Given the description of an element on the screen output the (x, y) to click on. 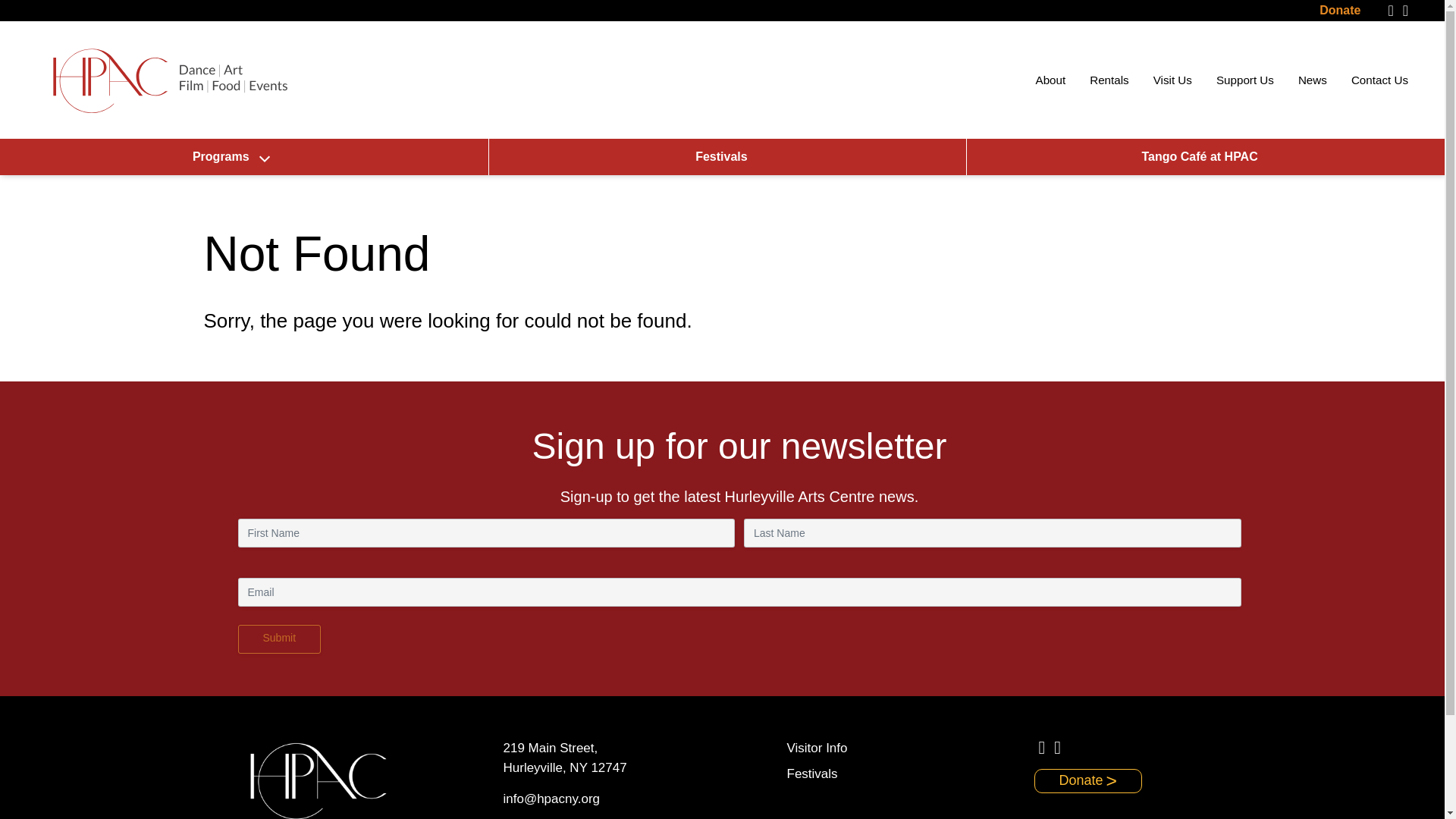
Contact Us (1379, 79)
Visit Us (1172, 79)
Hurleyville Performing Arts Centre (168, 79)
Programs (230, 156)
Rentals (1109, 79)
Submit (279, 638)
Support Us (1244, 79)
Donate (1339, 10)
